Given the description of an element on the screen output the (x, y) to click on. 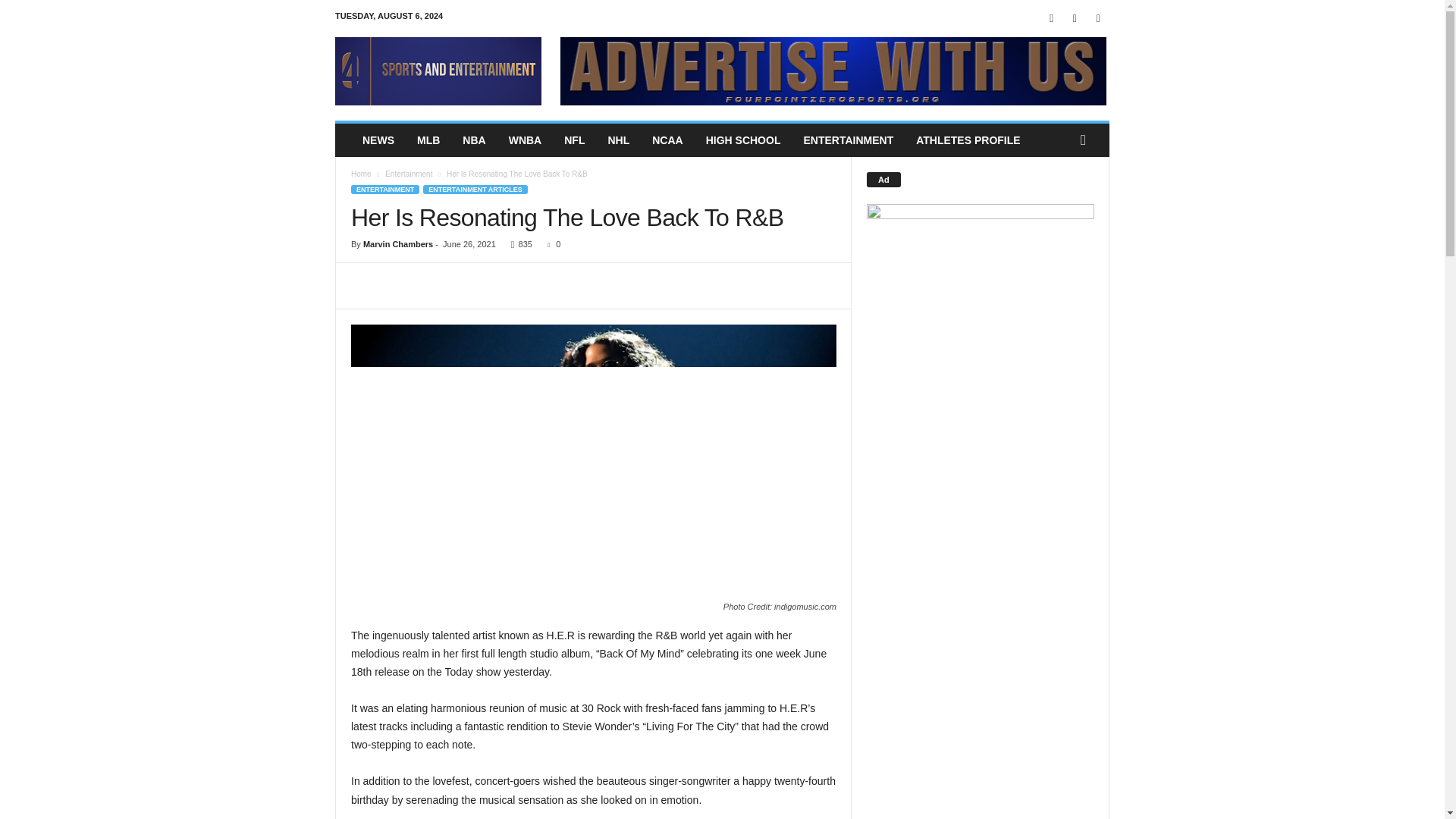
MLB (428, 140)
NCAA (667, 140)
WNBA (525, 140)
NFL (574, 140)
NHL (617, 140)
NEWS (378, 140)
View all posts in Entertainment (408, 173)
NBA (473, 140)
